Given the description of an element on the screen output the (x, y) to click on. 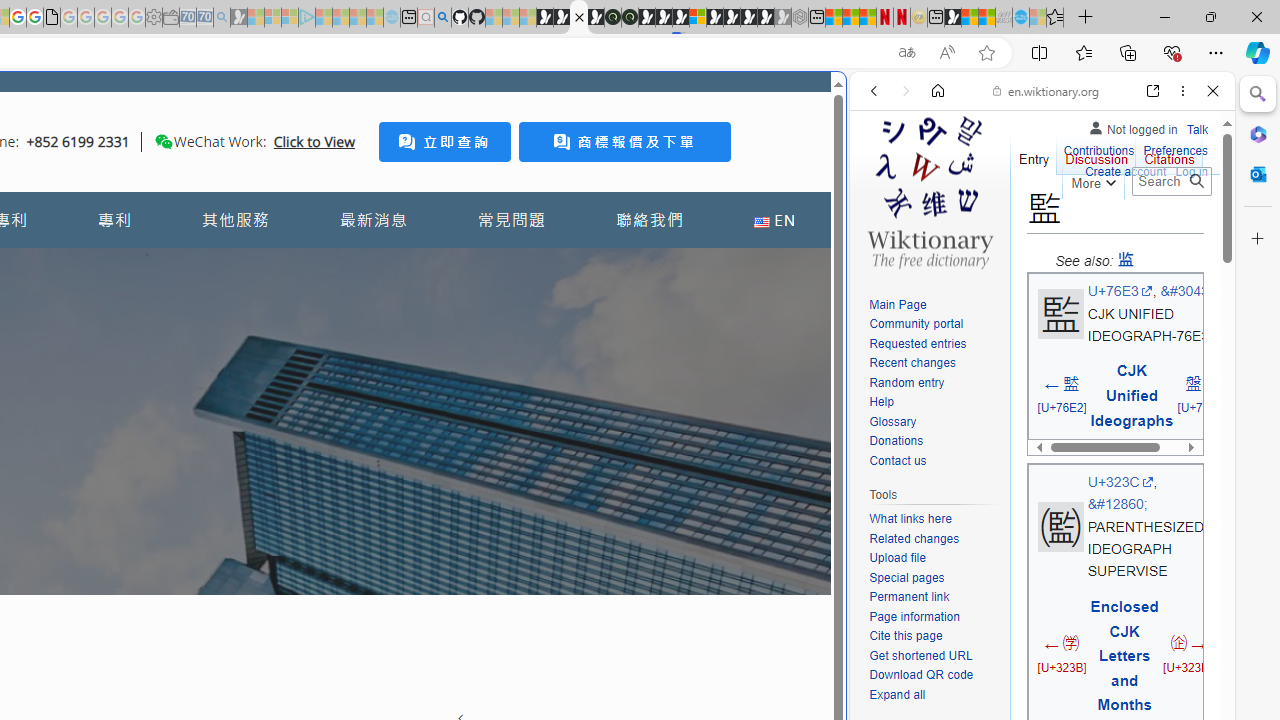
Cite this page (906, 636)
Class: desktop (163, 141)
EN (774, 220)
github - Search (442, 17)
Cite this page (934, 637)
Discussion (1096, 154)
